Given the description of an element on the screen output the (x, y) to click on. 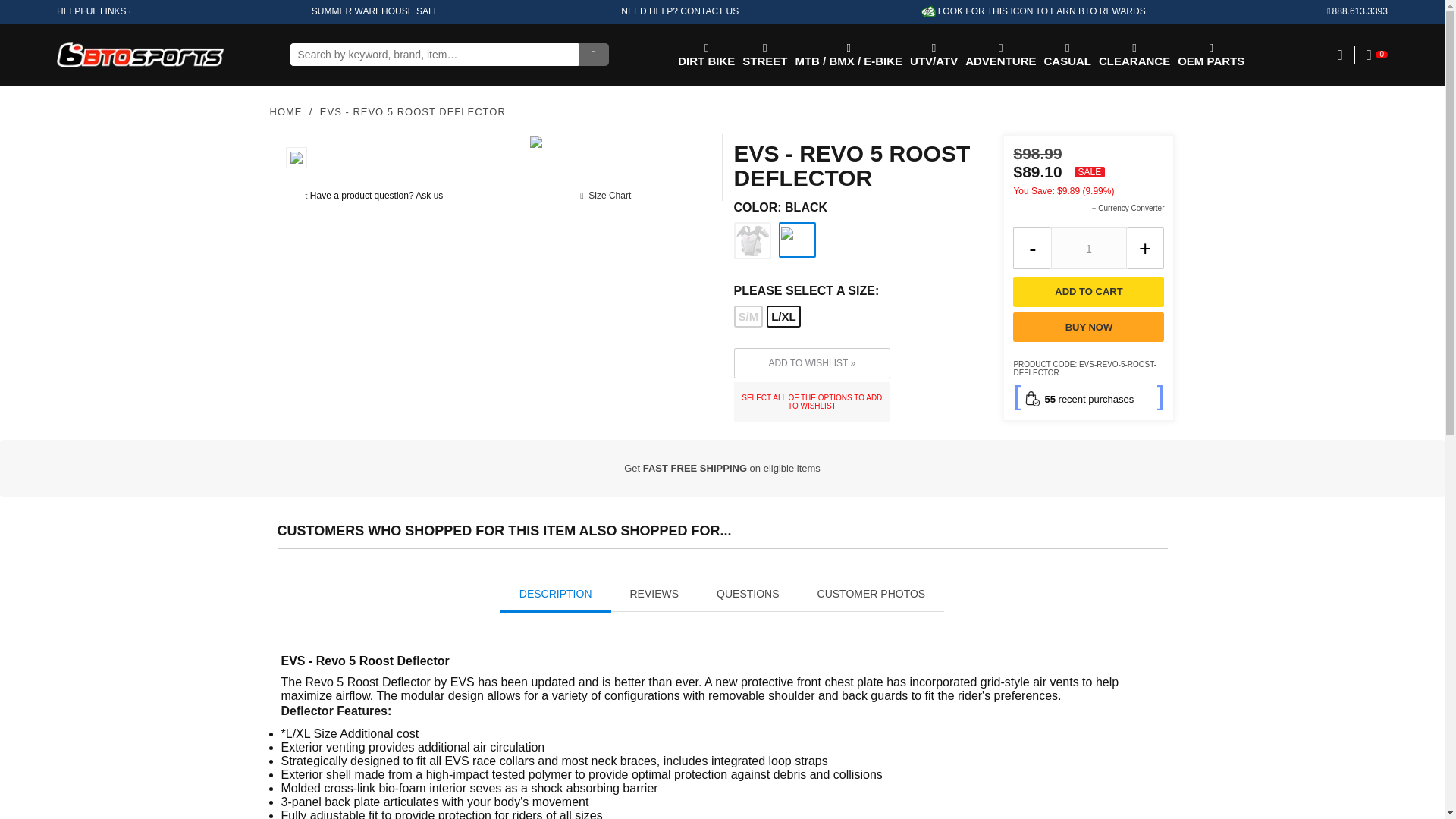
1 (1088, 248)
color (856, 207)
size (856, 291)
BTO Sports (970, 397)
